Given the description of an element on the screen output the (x, y) to click on. 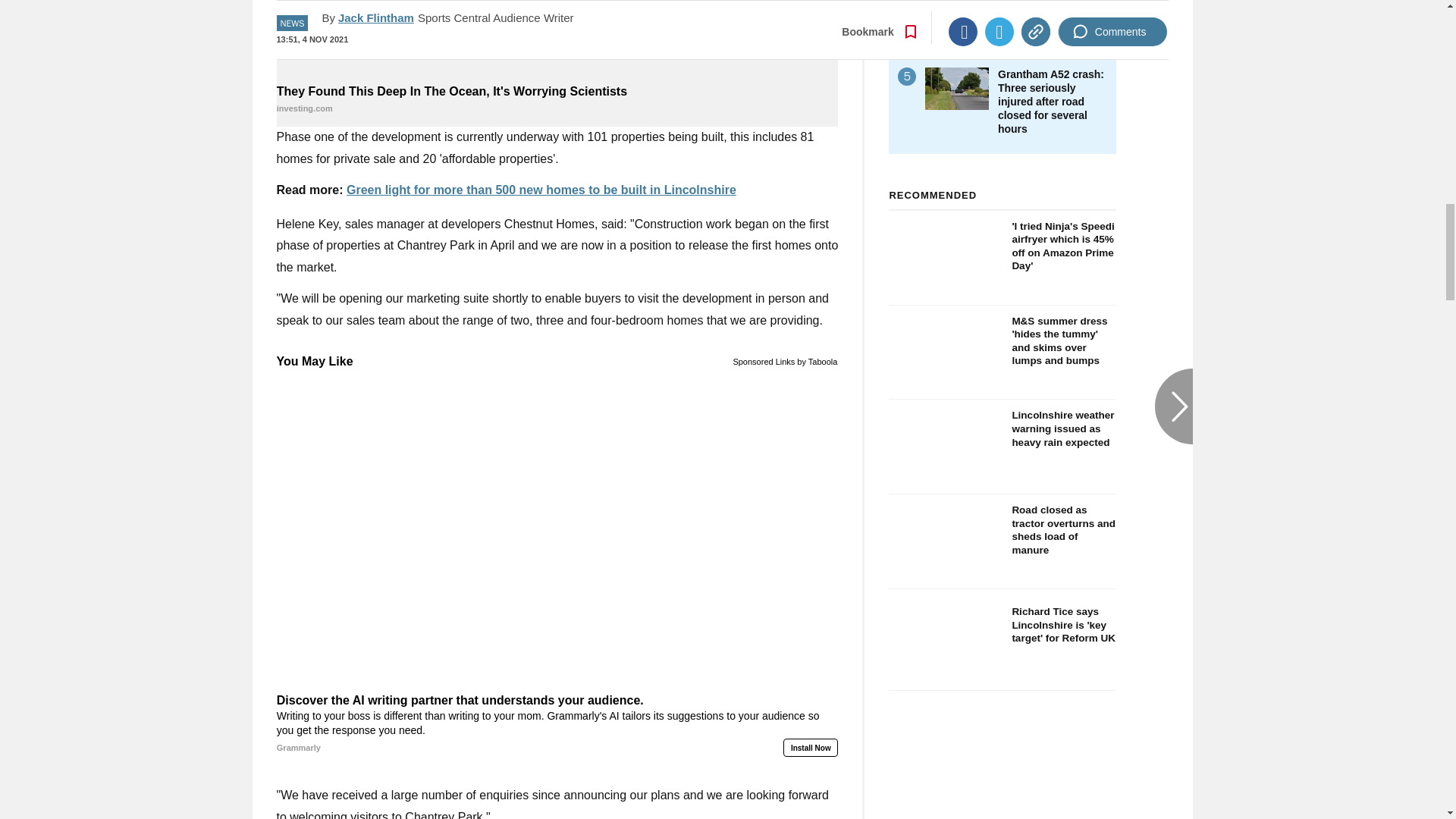
They Found This Deep In The Ocean, It's Worrying Scientists (557, 100)
